Given the description of an element on the screen output the (x, y) to click on. 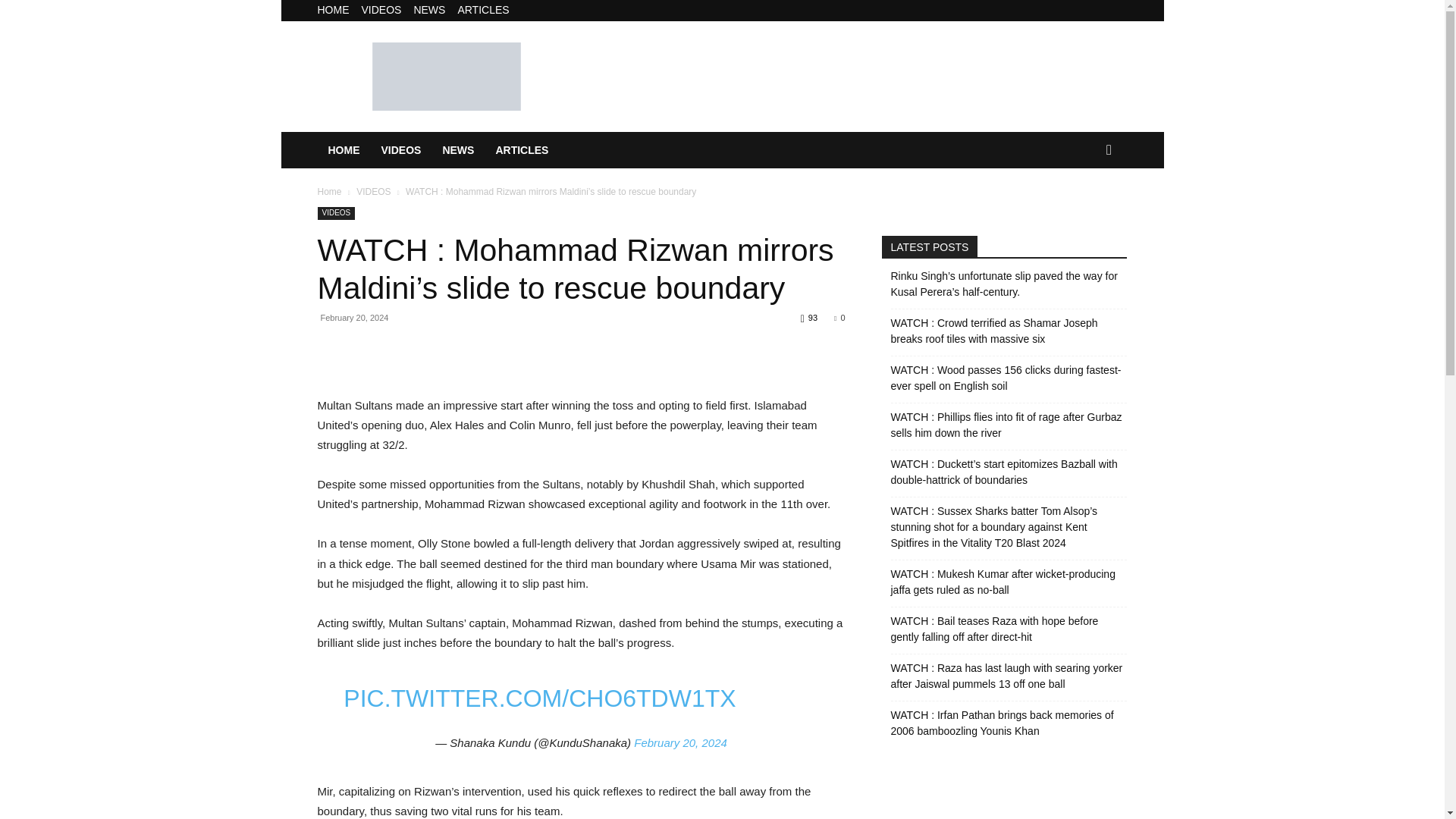
NEWS (429, 9)
Search (1085, 210)
ARTICLES (521, 149)
ARTICLES (482, 9)
VIDEOS (373, 191)
VIDEOS (399, 149)
HOME (333, 9)
View all posts in VIDEOS (373, 191)
VIDEOS (381, 9)
0 (839, 317)
VIDEOS (336, 213)
NEWS (457, 149)
Home (328, 191)
HOME (343, 149)
February 20, 2024 (679, 742)
